Given the description of an element on the screen output the (x, y) to click on. 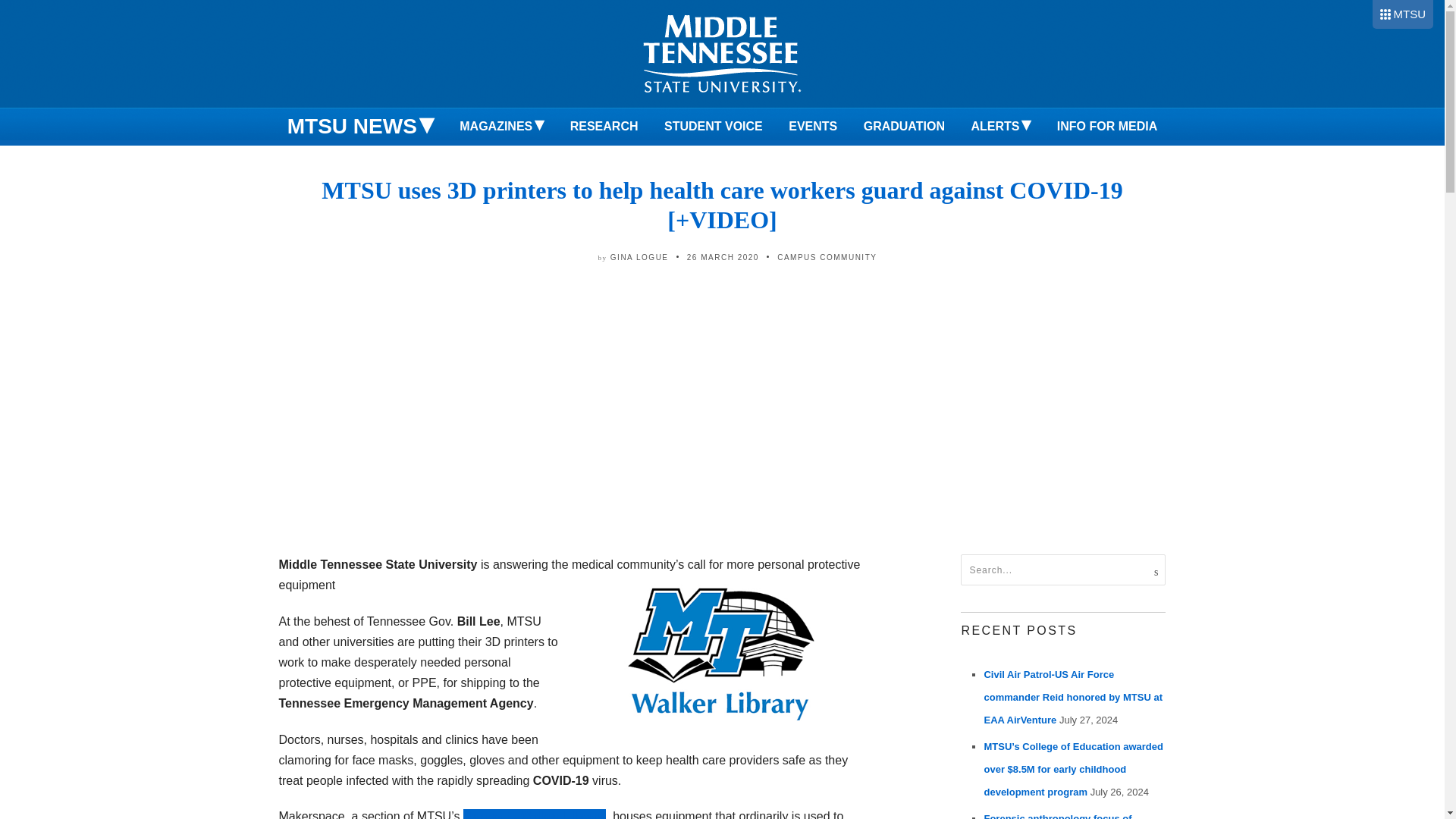
Posts by Gina Logue (639, 257)
March 26, 2020 3:07 (722, 257)
